Given the description of an element on the screen output the (x, y) to click on. 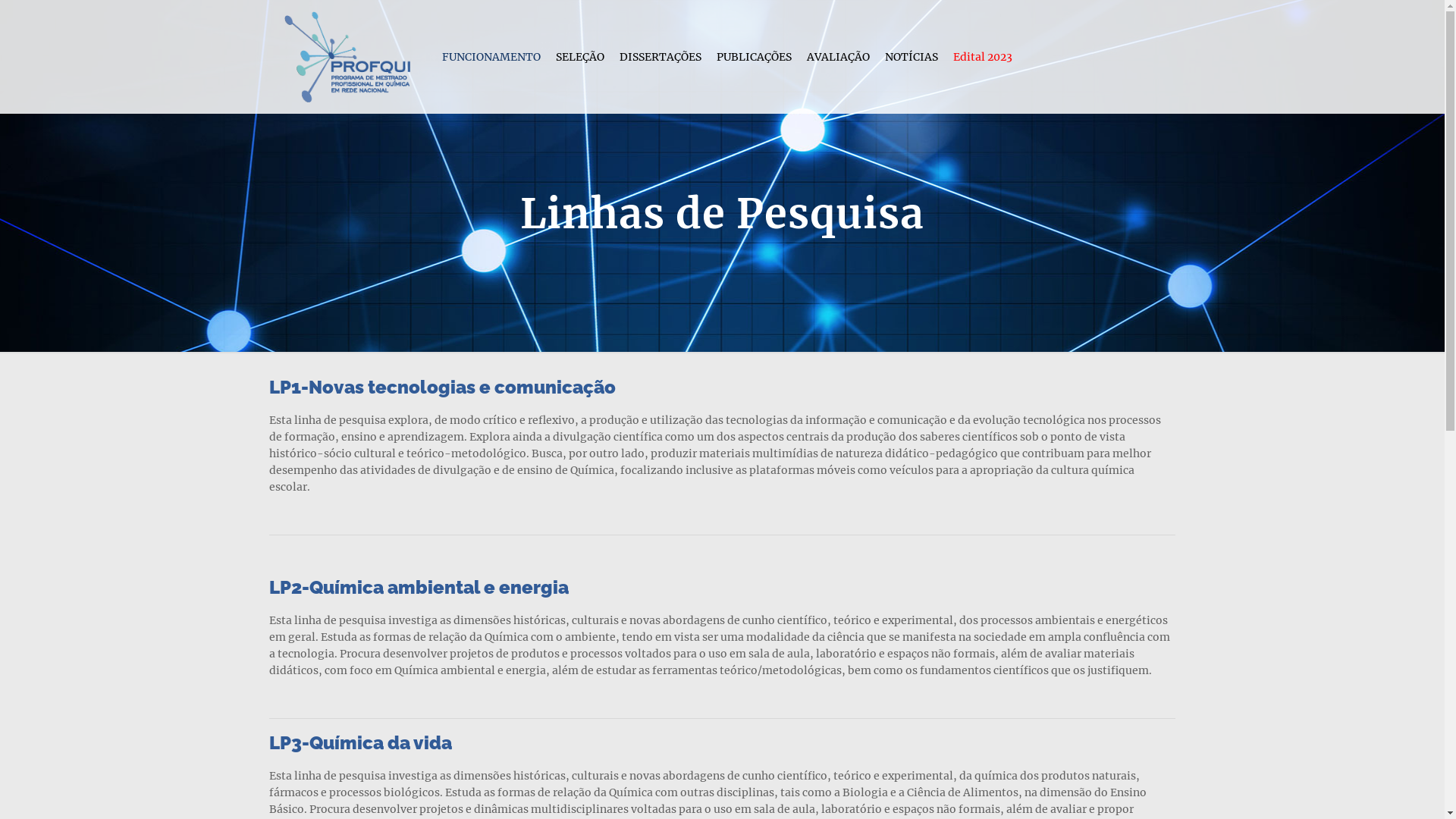
FUNCIONAMENTO Element type: text (491, 56)
Edital 2023 Element type: text (982, 56)
PROFQUI Element type: hover (347, 56)
